Given the description of an element on the screen output the (x, y) to click on. 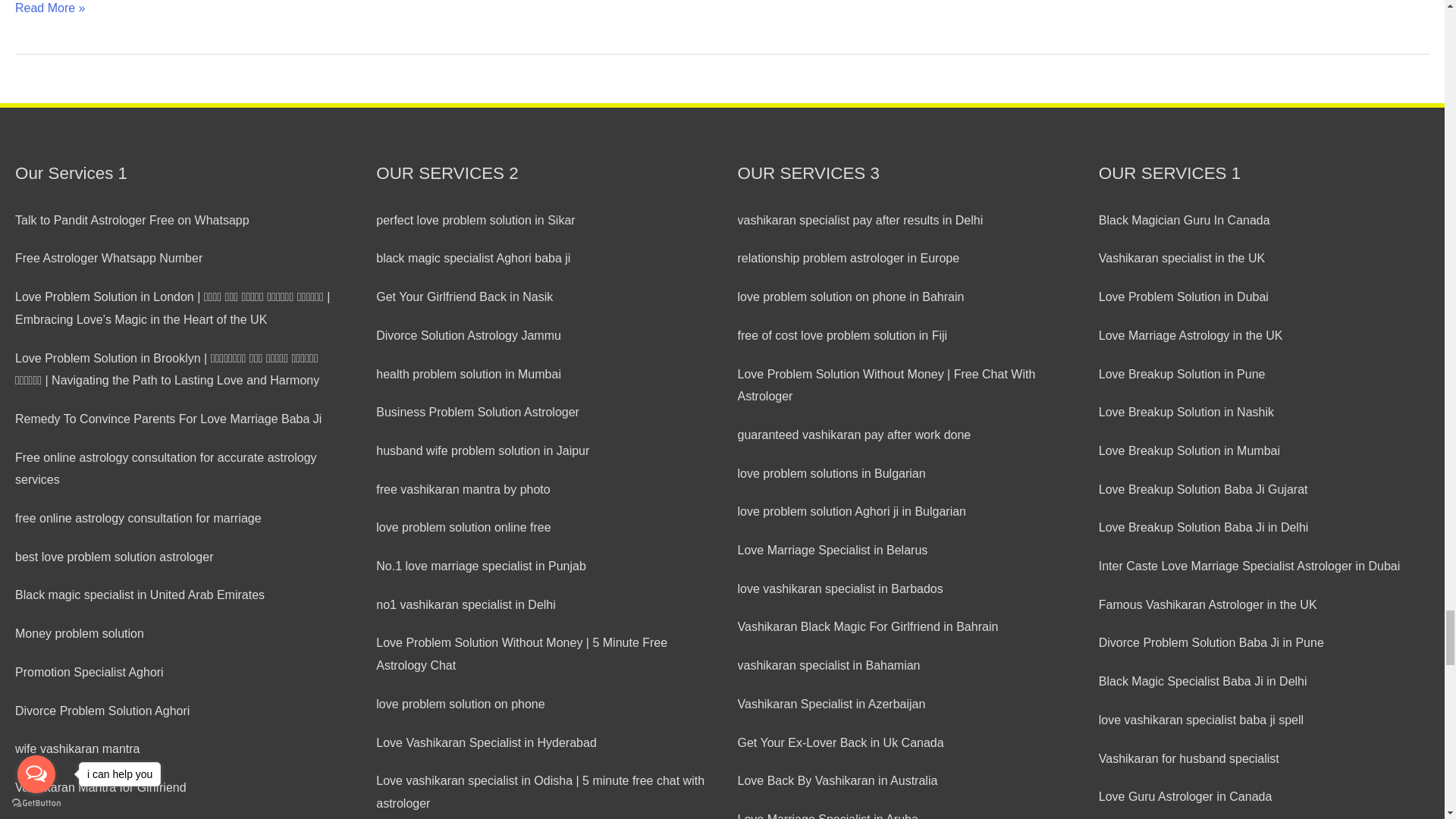
Remedy To Convince Parents For Love Marriage Baba Ji (180, 418)
free online astrology consultation for marriage (180, 517)
best love problem solution astrologer (180, 557)
Free Astrologer Whatsapp Number (180, 258)
Money problem solution (180, 633)
Black magic specialist in United Arab Emirates (180, 594)
Talk to Pandit Astrologer Free on Whatsapp (180, 220)
